Given the description of an element on the screen output the (x, y) to click on. 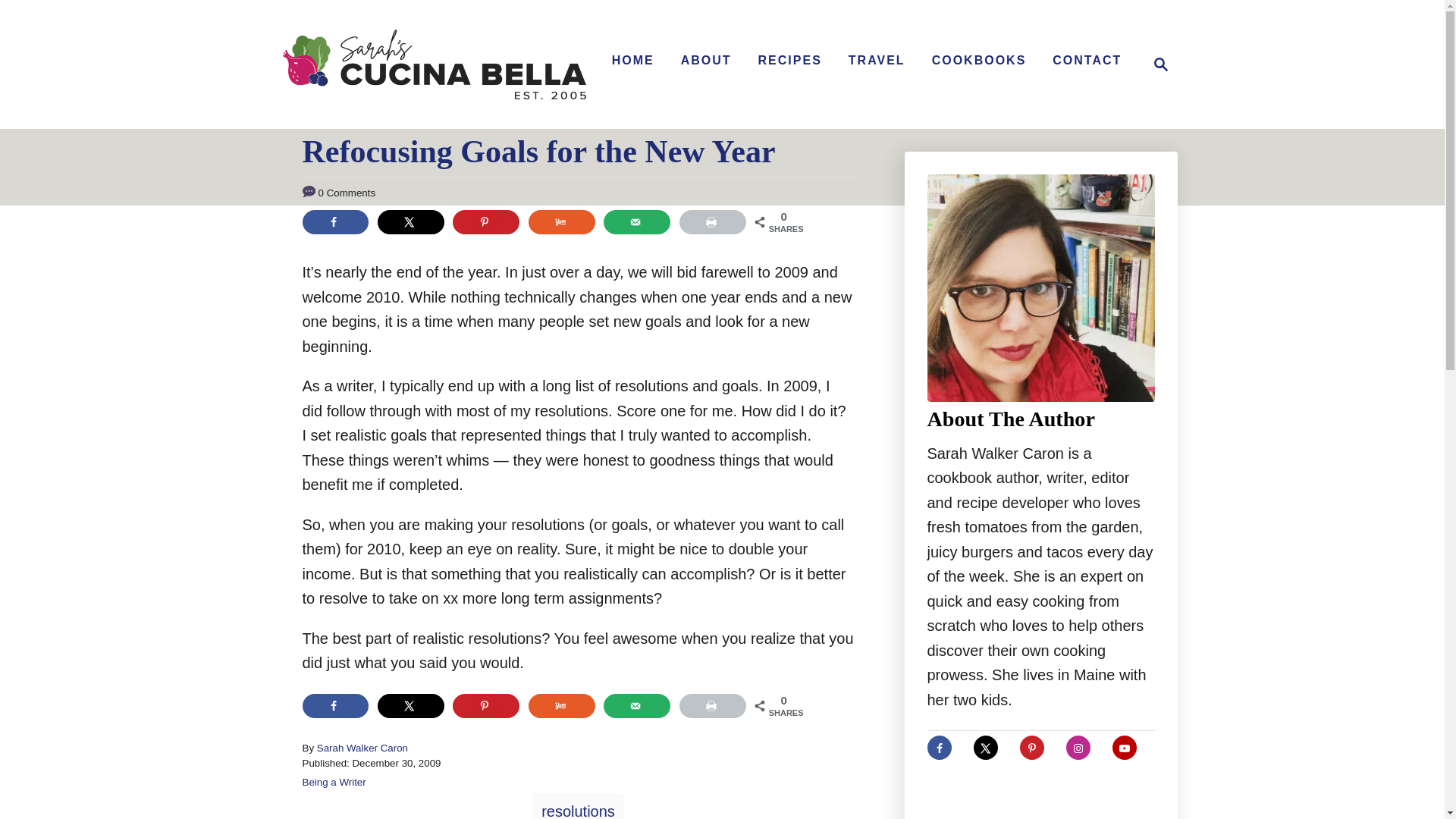
Save to Pinterest (485, 705)
Share on Yummly (561, 705)
resolutions (578, 806)
HOME (633, 60)
Share on Facebook (334, 705)
Print this webpage (712, 221)
Sarah's Cucina Bella (433, 64)
Share on X (410, 221)
Print this webpage (712, 705)
Being a Writer (333, 781)
TRAVEL (876, 60)
Sarah Walker Caron (362, 747)
Share on Yummly (561, 221)
Save to Pinterest (485, 221)
Magnifying Glass (1160, 64)
